Given the description of an element on the screen output the (x, y) to click on. 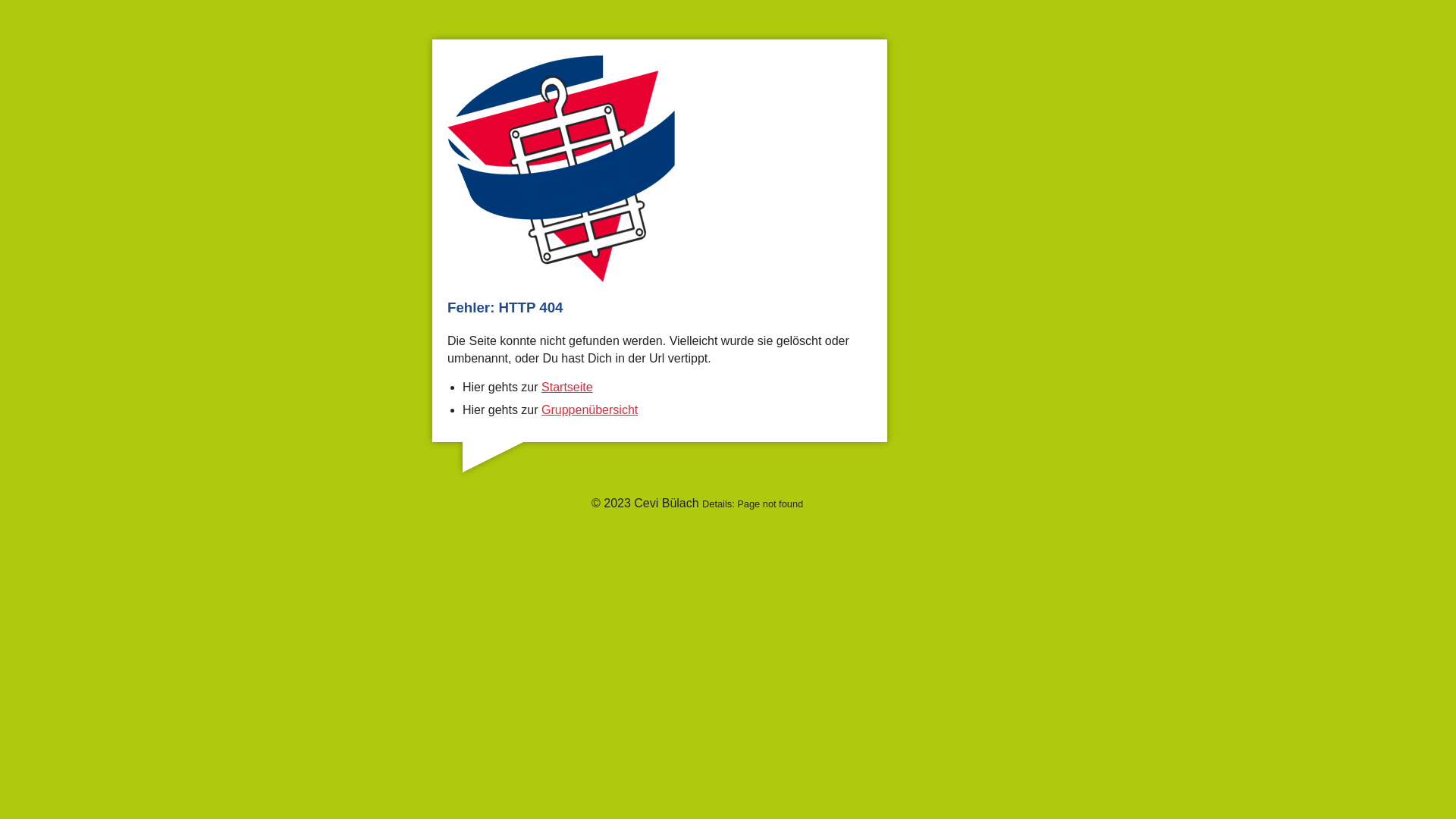
Startseite Element type: text (567, 386)
